Given the description of an element on the screen output the (x, y) to click on. 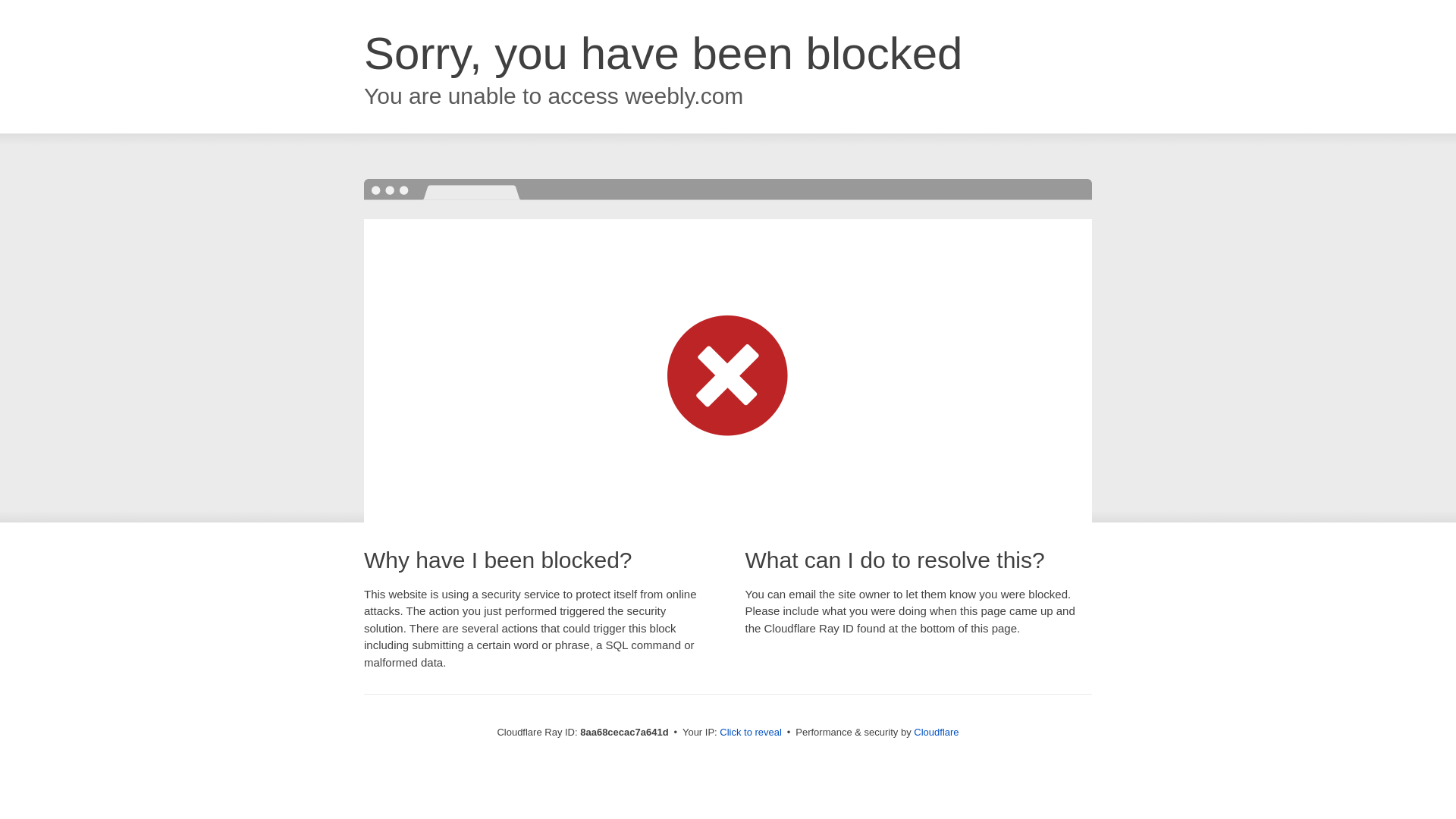
Click to reveal (750, 732)
Cloudflare (936, 731)
